Given the description of an element on the screen output the (x, y) to click on. 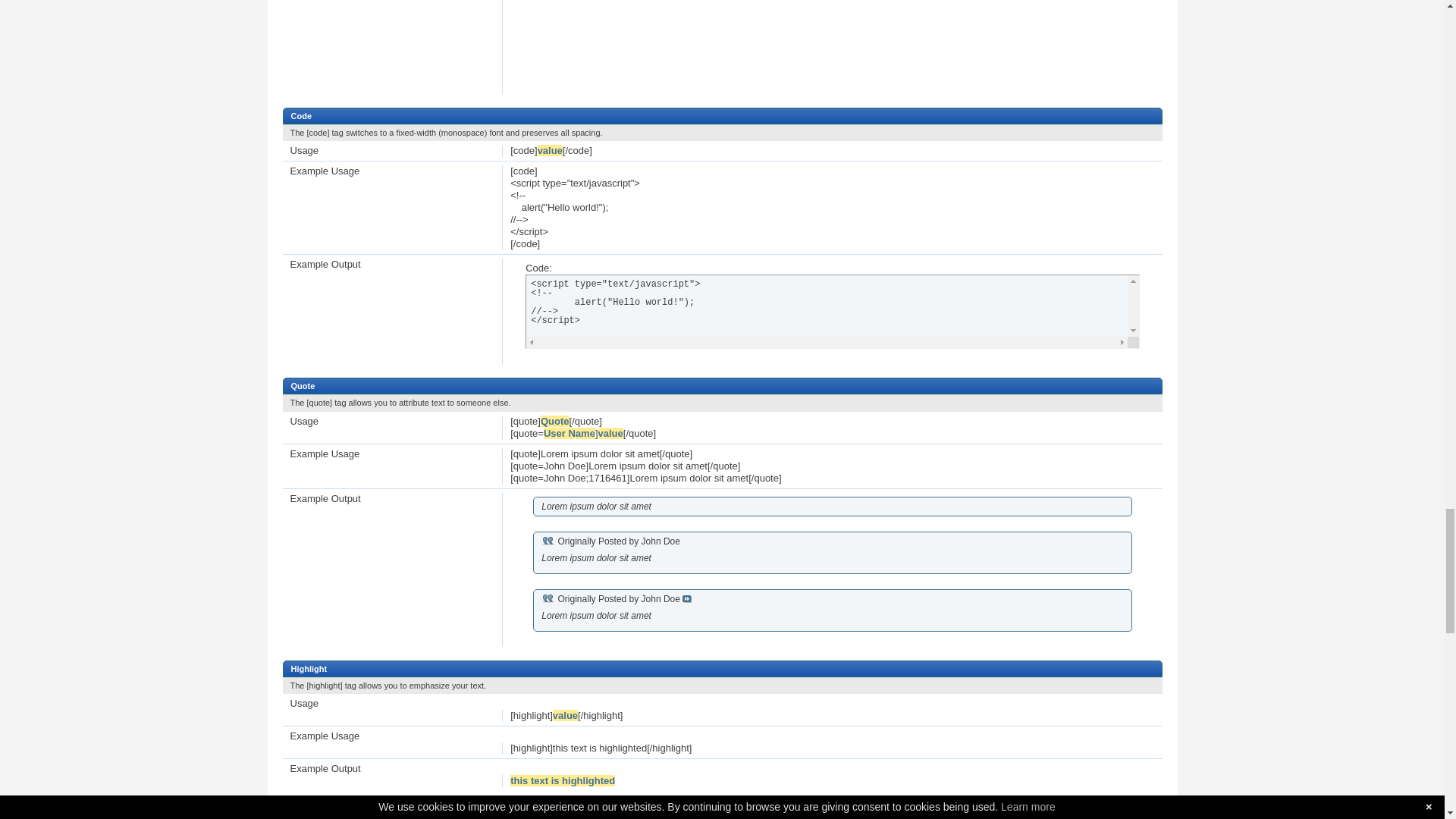
Quote (547, 598)
Quote (547, 541)
View Post (686, 598)
